Given the description of an element on the screen output the (x, y) to click on. 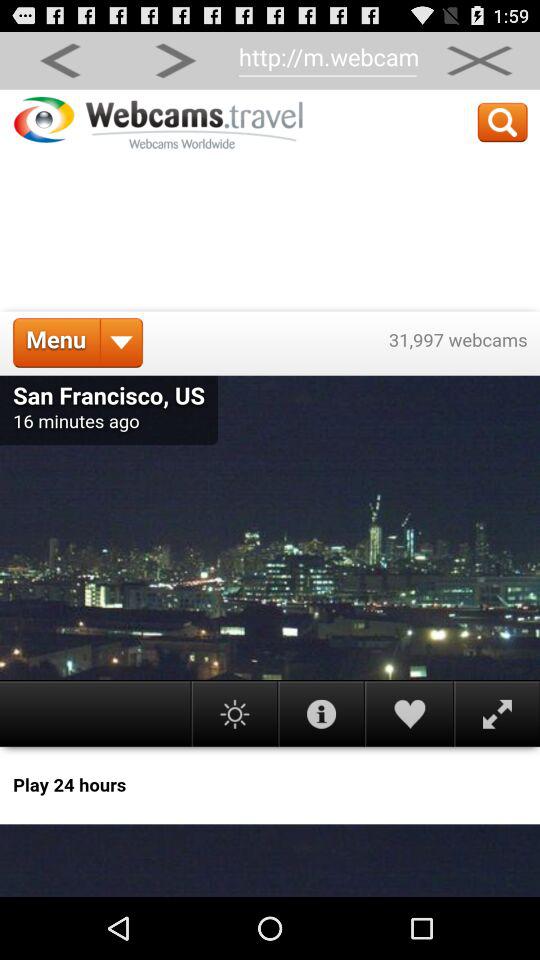
close option (479, 60)
